Given the description of an element on the screen output the (x, y) to click on. 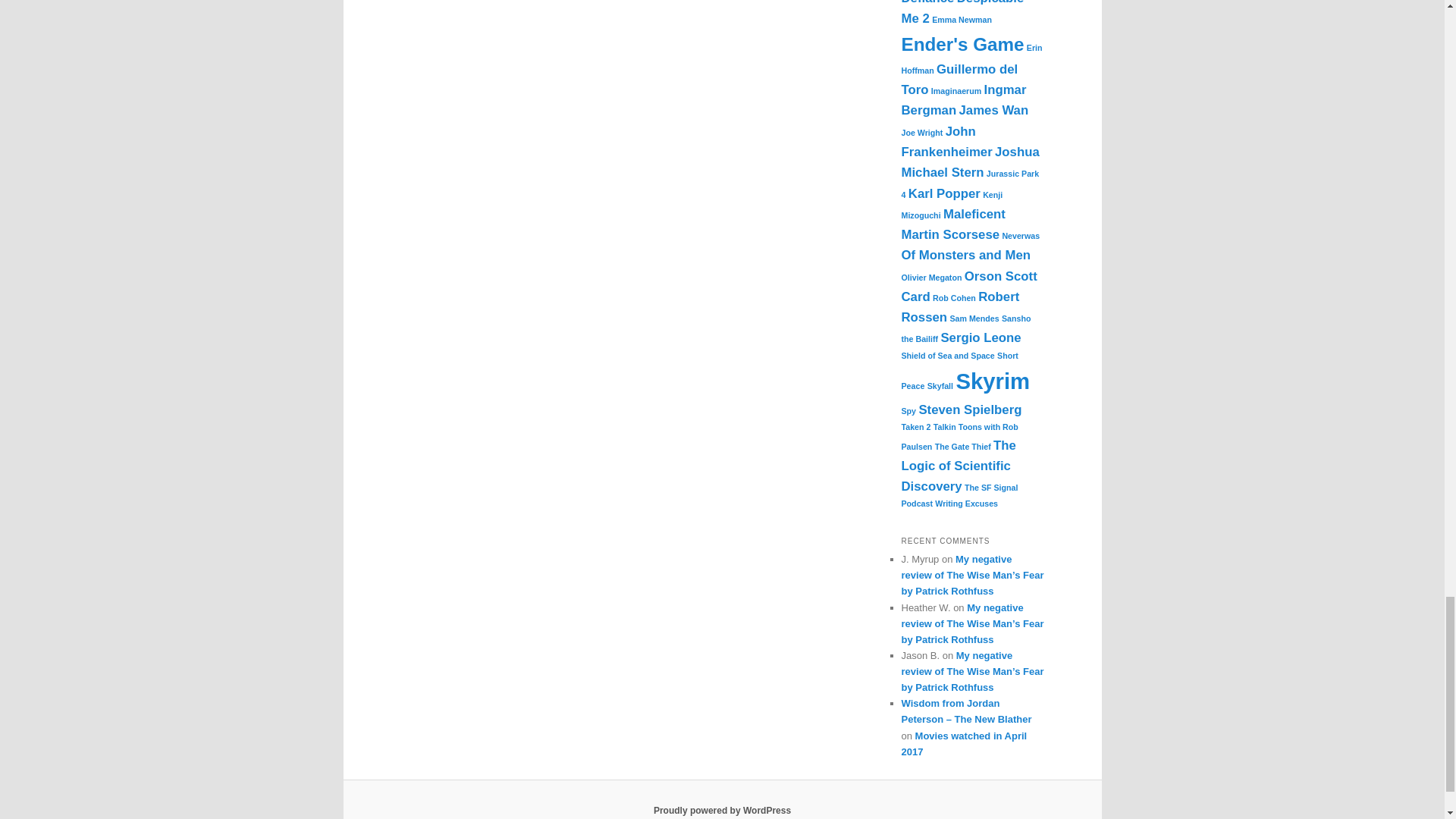
Semantic Personal Publishing Platform (721, 810)
